Given the description of an element on the screen output the (x, y) to click on. 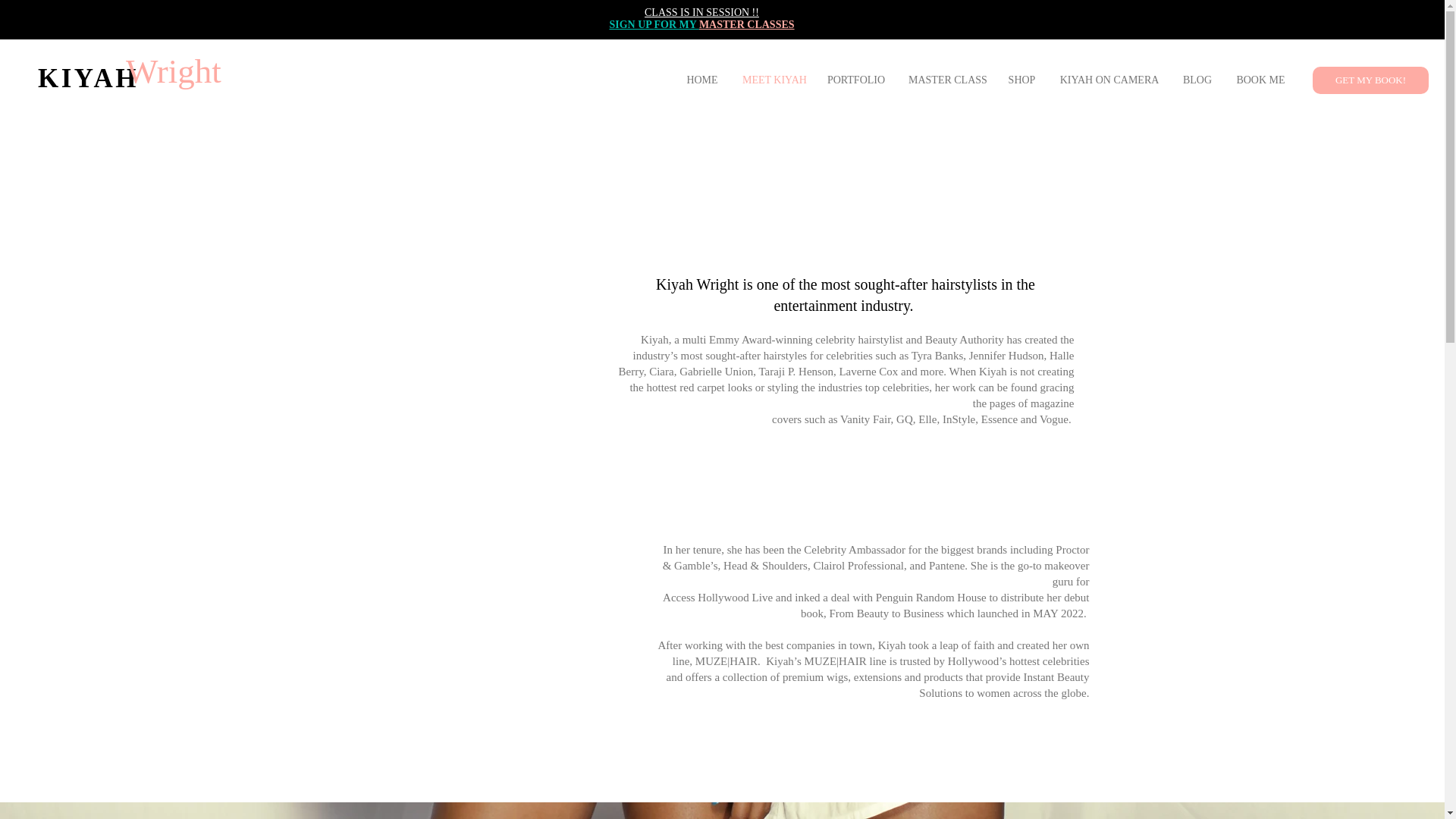
MEET KIYAH (772, 79)
GET MY BOOK! (1370, 80)
KIYAH ON CAMERA (1109, 79)
MASTER CLASS (945, 79)
HOME (701, 79)
BLOG (1197, 79)
